Given the description of an element on the screen output the (x, y) to click on. 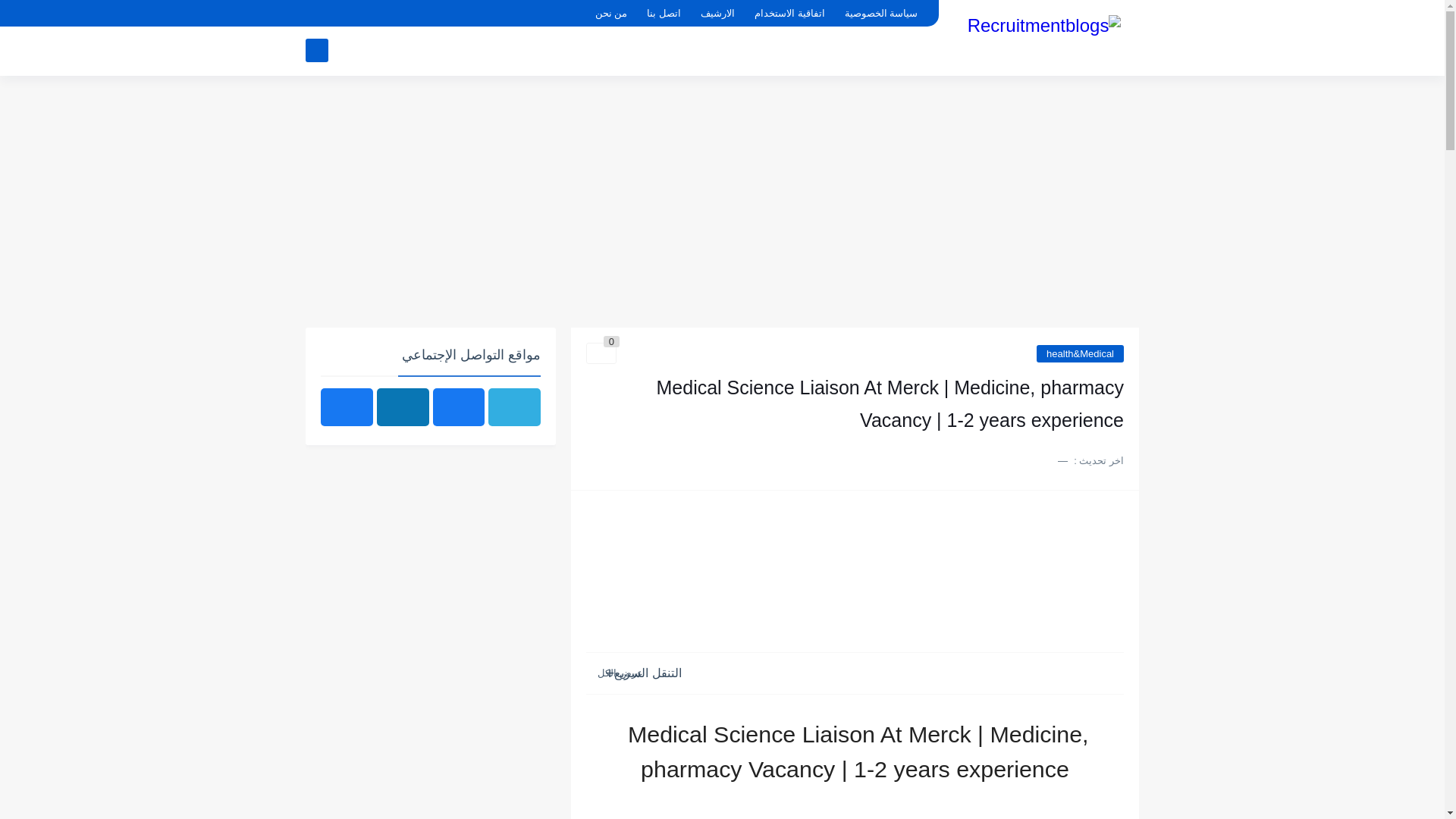
Recruitmentblogs (1044, 36)
telegram (395, 13)
linkedin (343, 13)
facebook (317, 13)
